Given the description of an element on the screen output the (x, y) to click on. 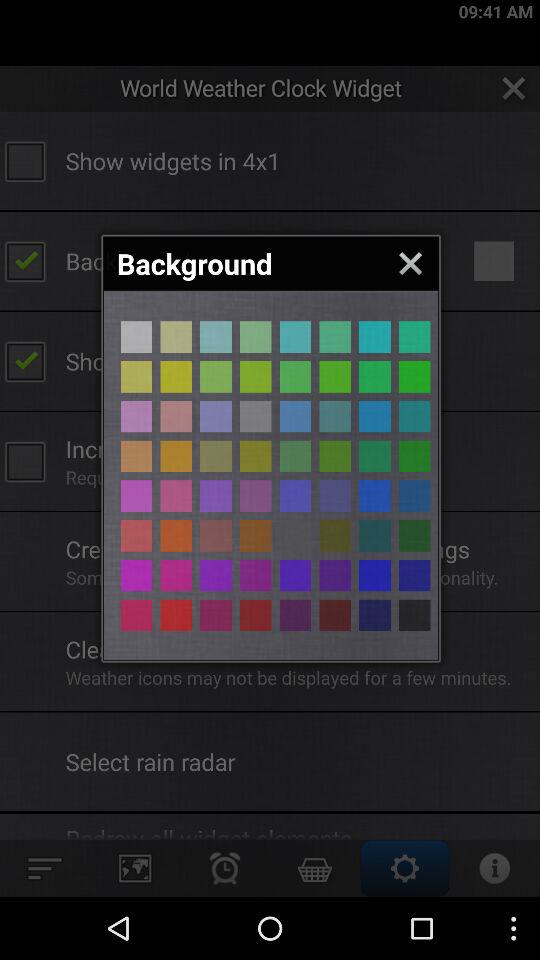
select color (374, 376)
